Given the description of an element on the screen output the (x, y) to click on. 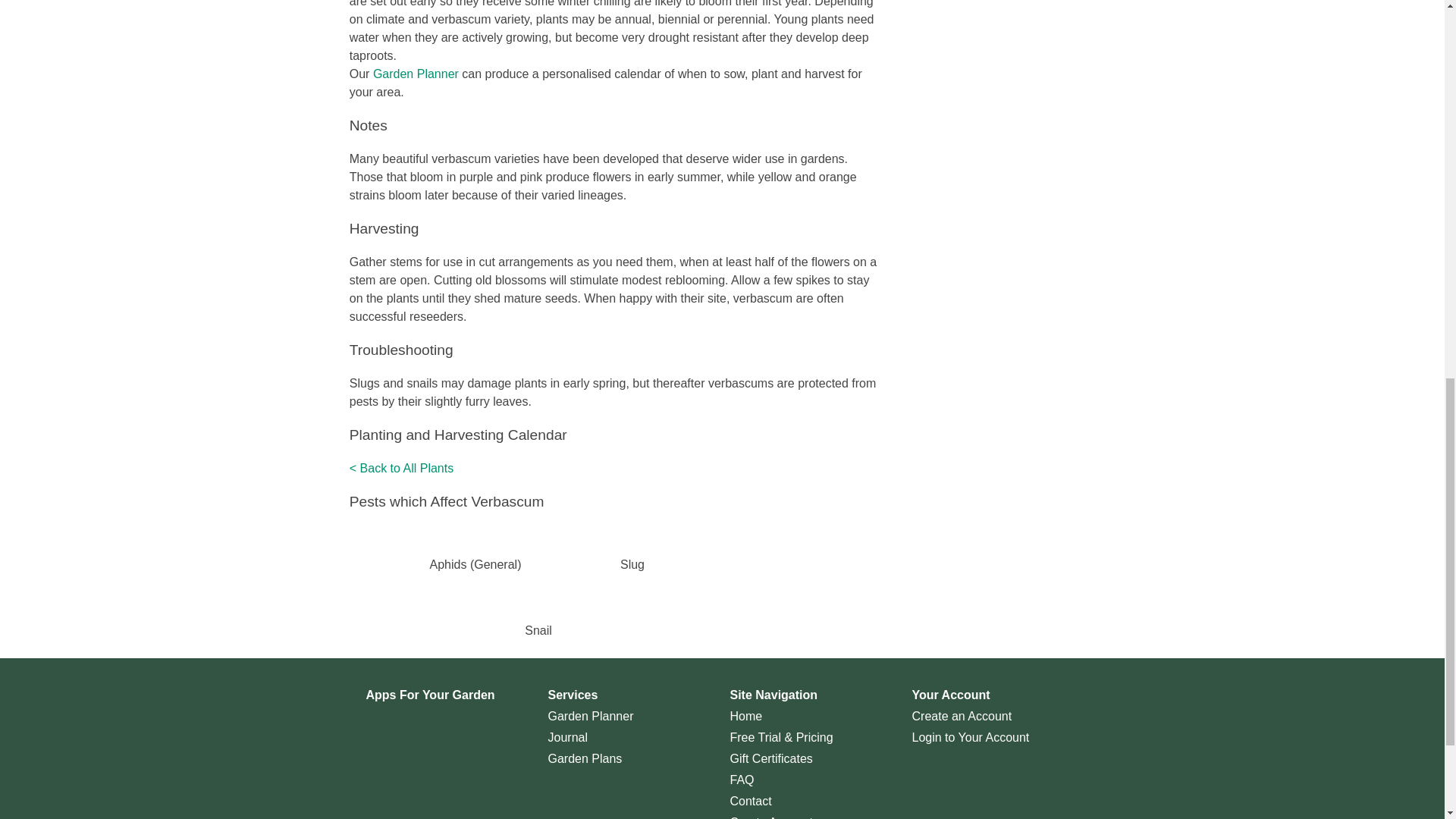
Slug (632, 563)
Snail (537, 630)
Garden Plans (584, 758)
Journal (566, 737)
Garden Planner (590, 716)
Garden Planner (415, 73)
